Given the description of an element on the screen output the (x, y) to click on. 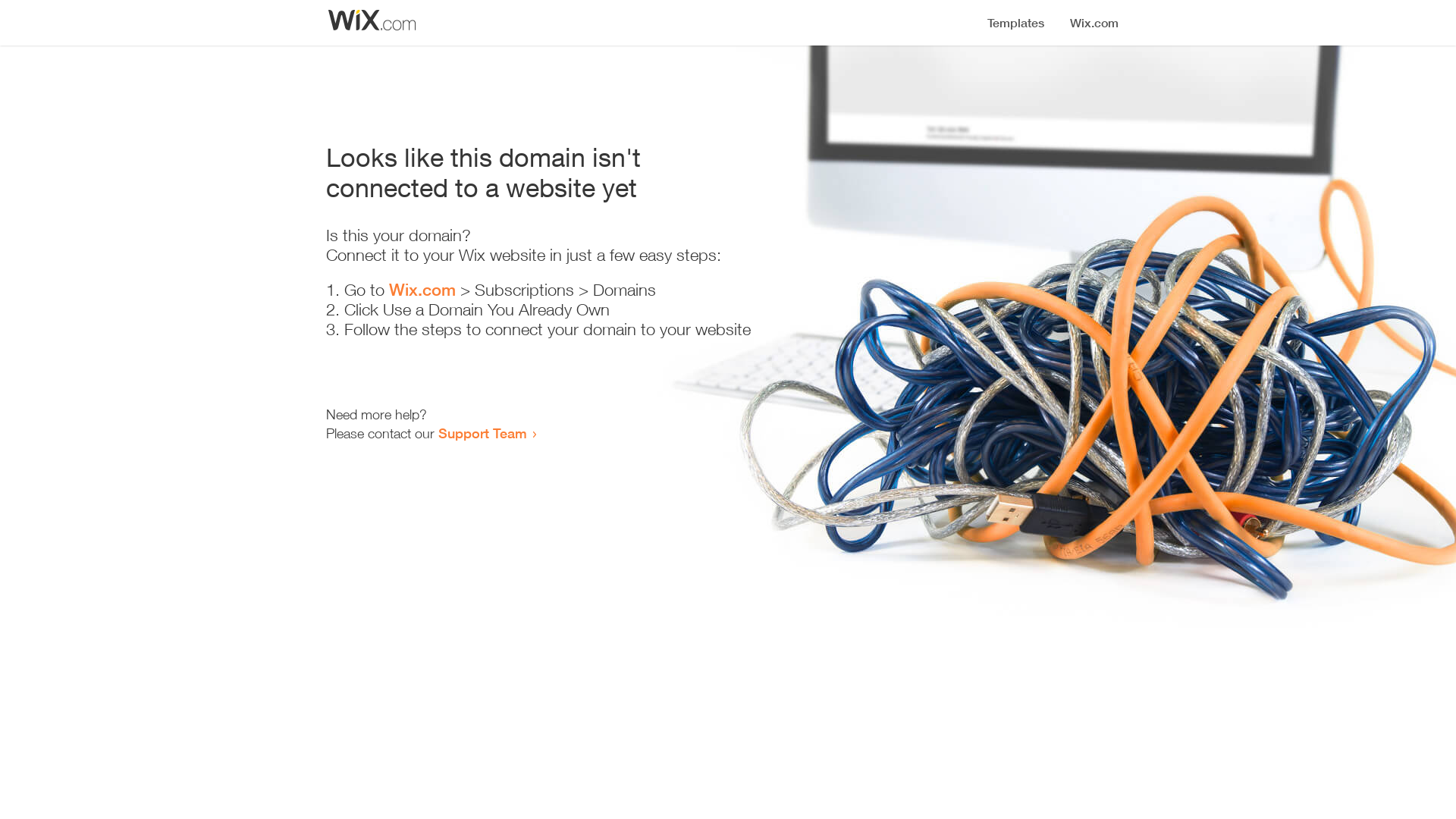
Wix.com Element type: text (422, 289)
Support Team Element type: text (482, 432)
